Given the description of an element on the screen output the (x, y) to click on. 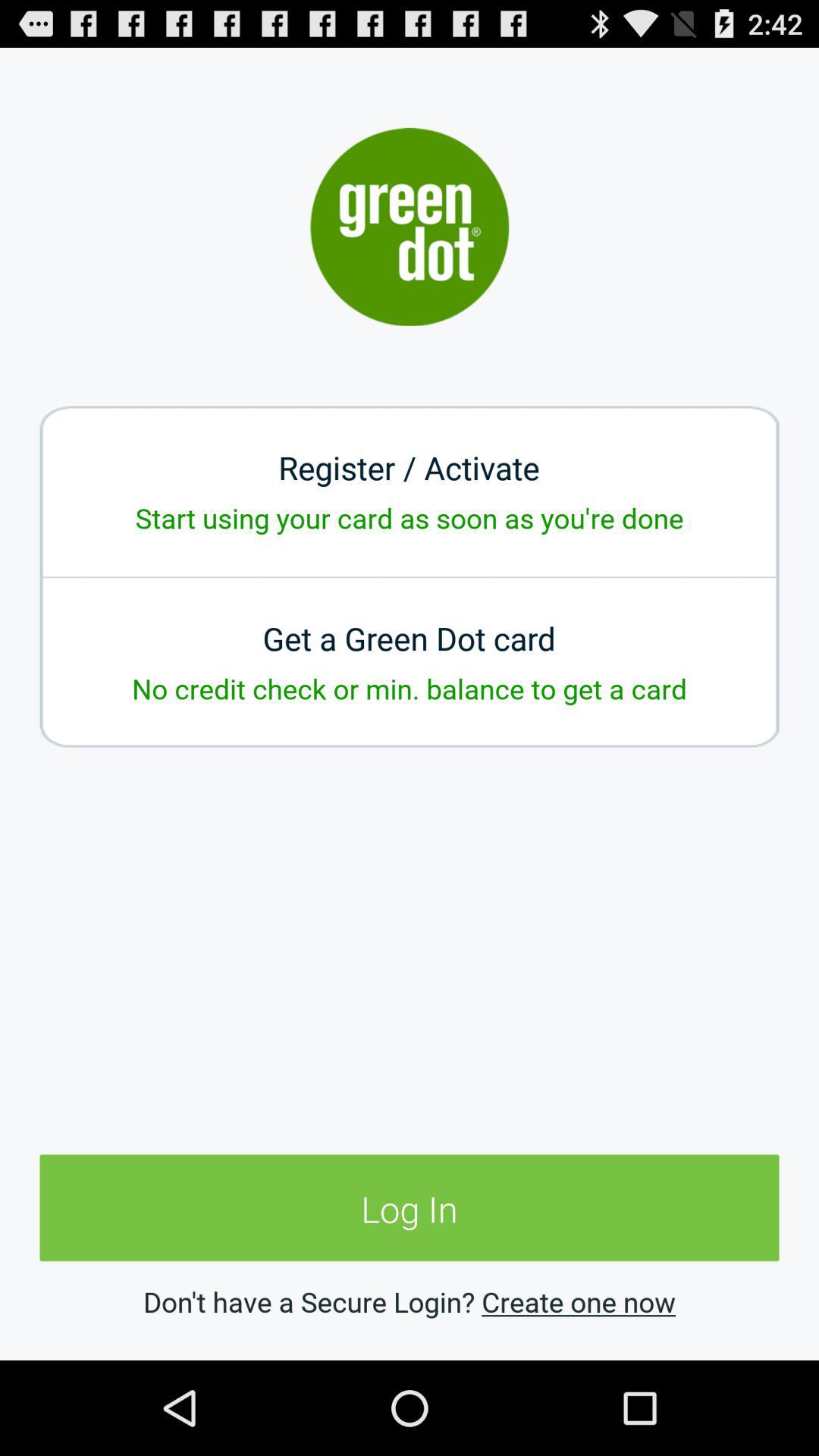
press the icon at the bottom right corner (578, 1301)
